Given the description of an element on the screen output the (x, y) to click on. 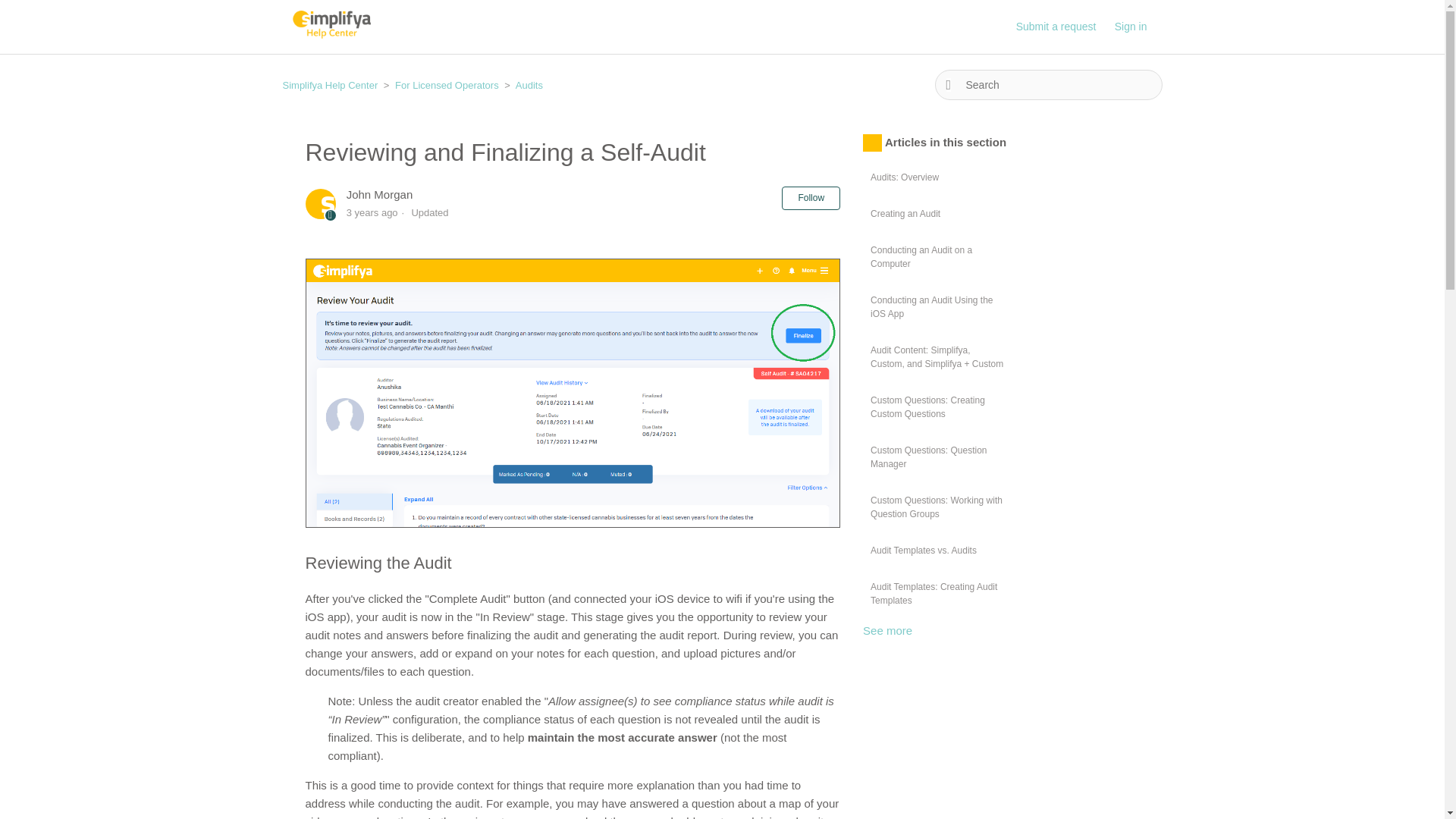
See more (887, 629)
For Licensed Operators (446, 84)
Opens a sign-in dialog (810, 197)
Custom Questions: Working with Question Groups (937, 506)
2021-10-18 05:37 (371, 212)
Conducting an Audit Using the iOS App (937, 306)
Audit Templates vs. Audits (937, 549)
Simplifya Help Center (331, 84)
Home (331, 33)
Audits: Overview (937, 176)
